Given the description of an element on the screen output the (x, y) to click on. 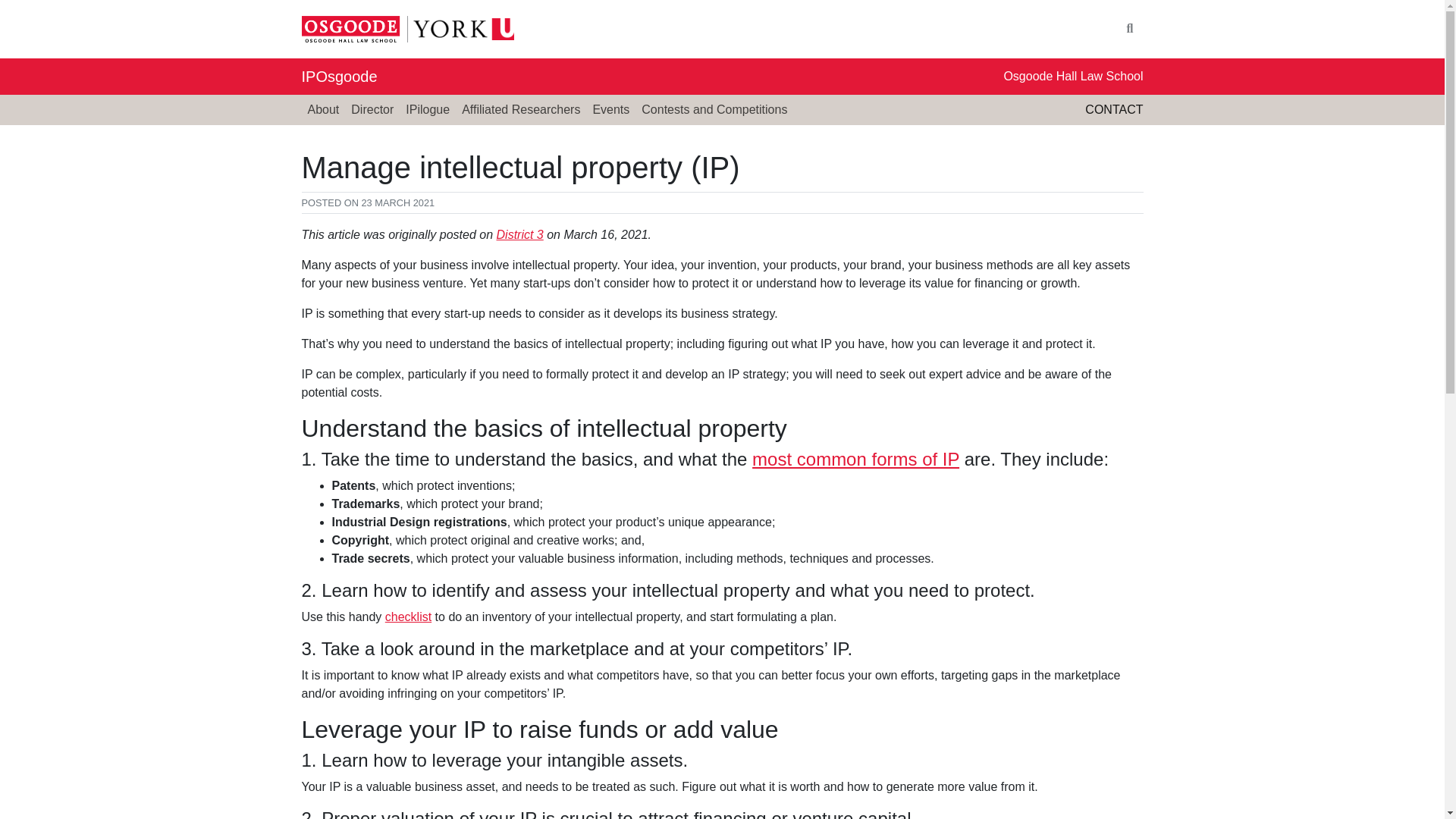
Events (610, 110)
Contests and Competitions (713, 110)
Affiliated Researchers (520, 110)
most common forms of IP (855, 458)
Search (1129, 28)
About (323, 110)
checklist (407, 616)
Osgoode Hall Law School (1072, 75)
Director (371, 110)
IPOsgoode (339, 76)
IPilogue (426, 110)
CONTACT (1113, 109)
District 3 (519, 234)
